Given the description of an element on the screen output the (x, y) to click on. 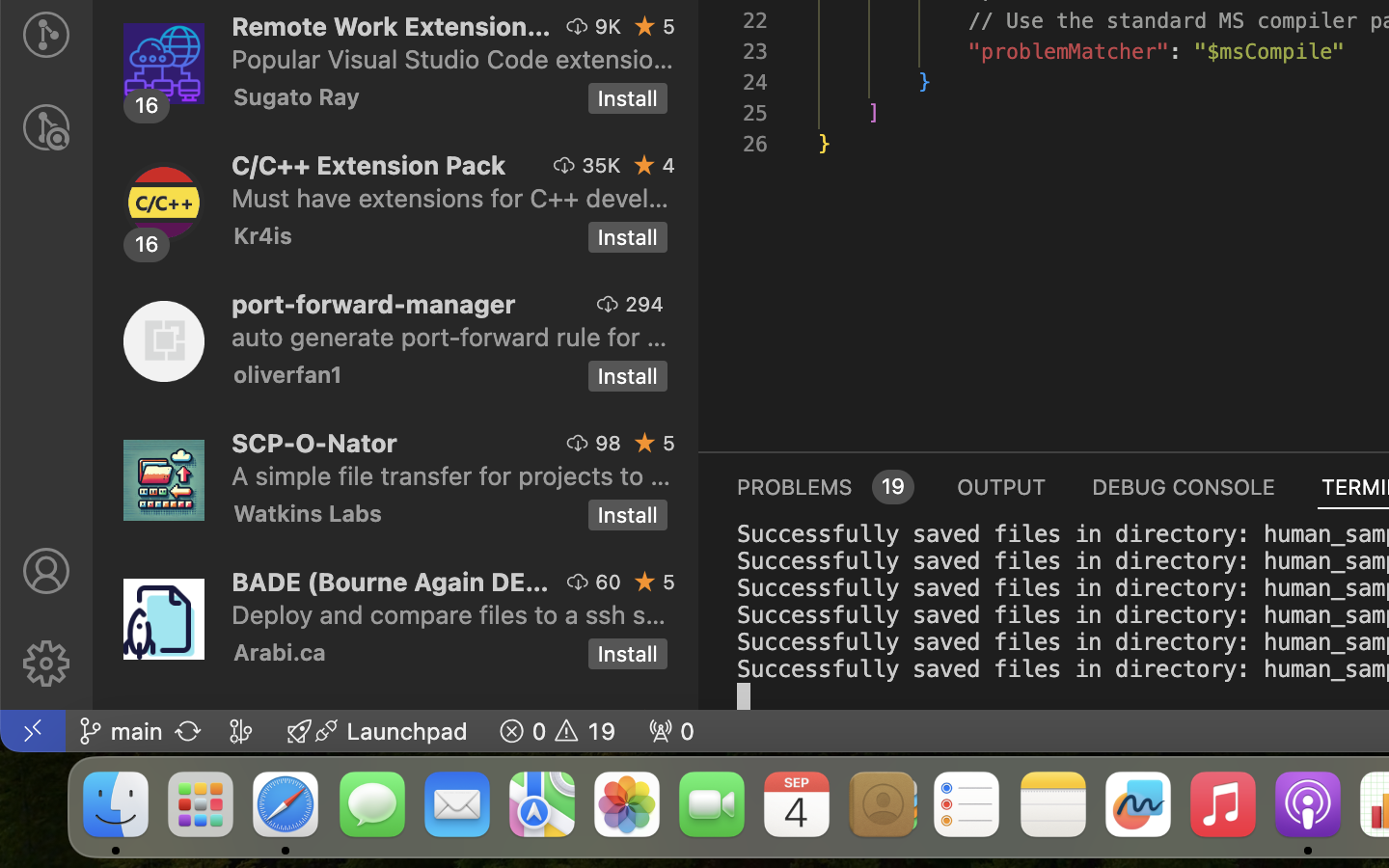
Must have extensions for C++ development in Visual Studio Code. Element type: AXStaticText (450, 197)
 Element type: AXGroup (46, 663)
Arabi.ca Element type: AXStaticText (279, 651)
Kr4is Element type: AXStaticText (263, 234)
auto generate port-forward rule for your vscode ssh connection. Element type: AXStaticText (449, 336)
